Given the description of an element on the screen output the (x, y) to click on. 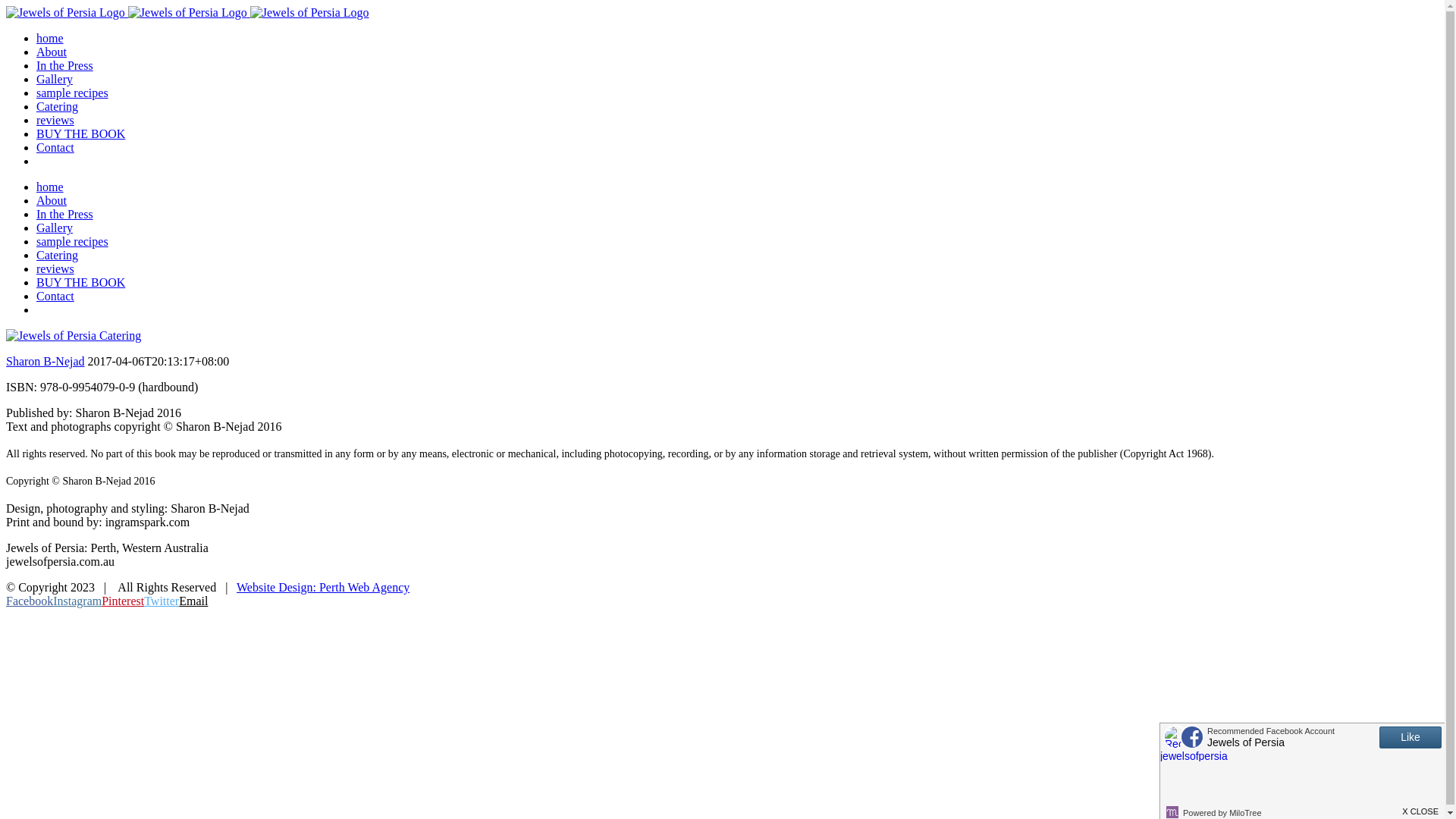
Pinterest Element type: text (122, 600)
About Element type: text (51, 51)
Sharon B-Nejad Element type: text (45, 360)
Contact Element type: text (55, 295)
Twitter Element type: text (161, 600)
Catering Element type: text (57, 254)
About Element type: text (51, 200)
In the Press Element type: text (64, 65)
Catering Element type: text (57, 106)
Gallery Element type: text (54, 78)
Instagram Element type: text (77, 600)
Contact Element type: text (55, 147)
In the Press Element type: text (64, 213)
Gallery Element type: text (54, 227)
Website Design: Perth Web Agency Element type: text (322, 586)
reviews Element type: text (55, 119)
home Element type: text (49, 186)
sample recipes Element type: text (72, 92)
Email Element type: text (192, 600)
BUY THE BOOK Element type: text (80, 133)
Facebook Element type: text (29, 600)
home Element type: text (49, 37)
BUY THE BOOK Element type: text (80, 282)
reviews Element type: text (55, 268)
sample recipes Element type: text (72, 241)
